Given the description of an element on the screen output the (x, y) to click on. 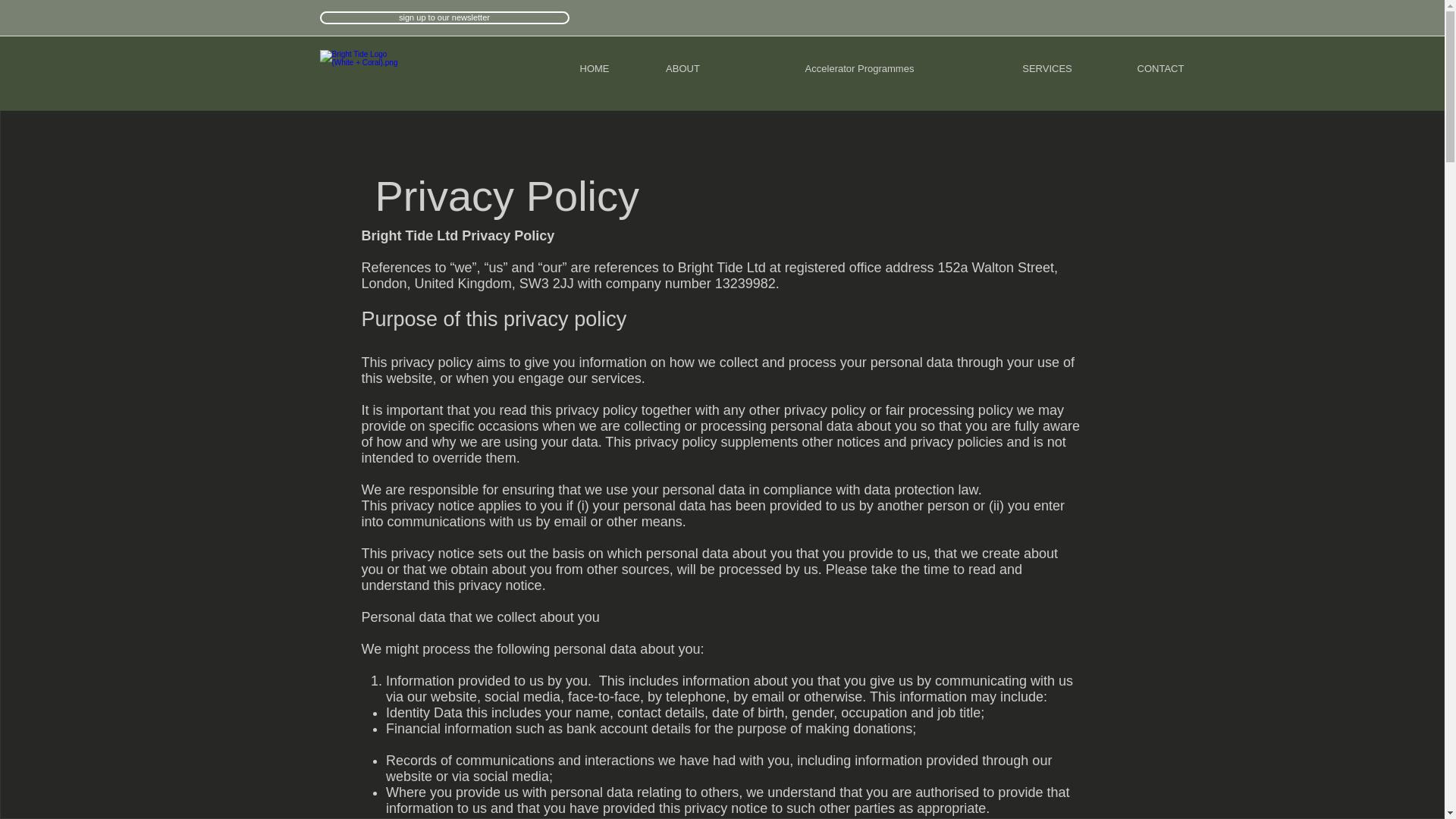
CONTACT (1159, 68)
HOME (593, 68)
sign up to our newsletter (444, 17)
SERVICES (1047, 68)
ABOUT (683, 68)
